Given the description of an element on the screen output the (x, y) to click on. 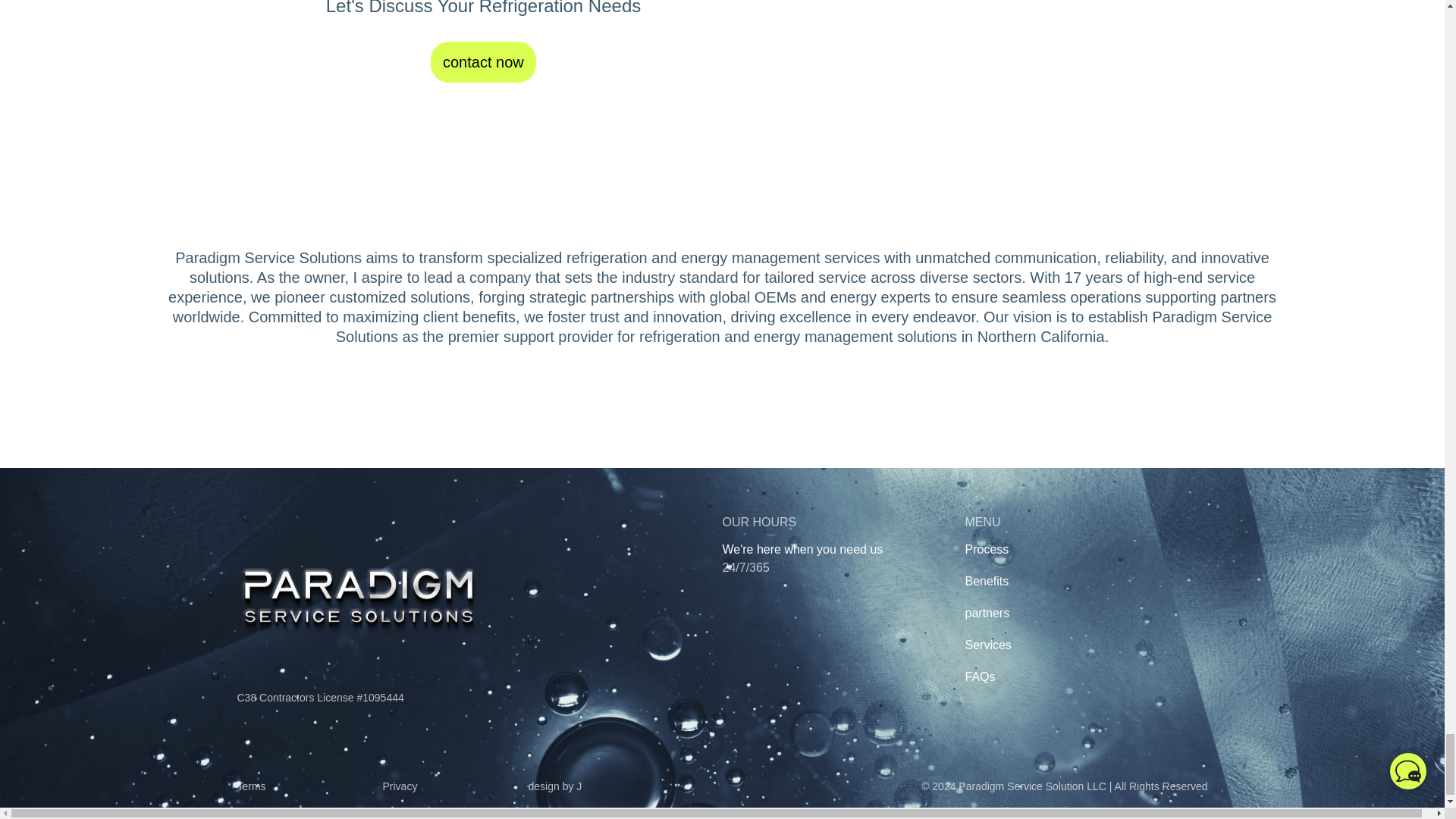
Privacy (454, 786)
Process (986, 550)
Terms (308, 786)
partners (986, 614)
FAQs (978, 677)
contact now (482, 61)
Services (986, 646)
Benefits (986, 582)
design by J (599, 786)
